Given the description of an element on the screen output the (x, y) to click on. 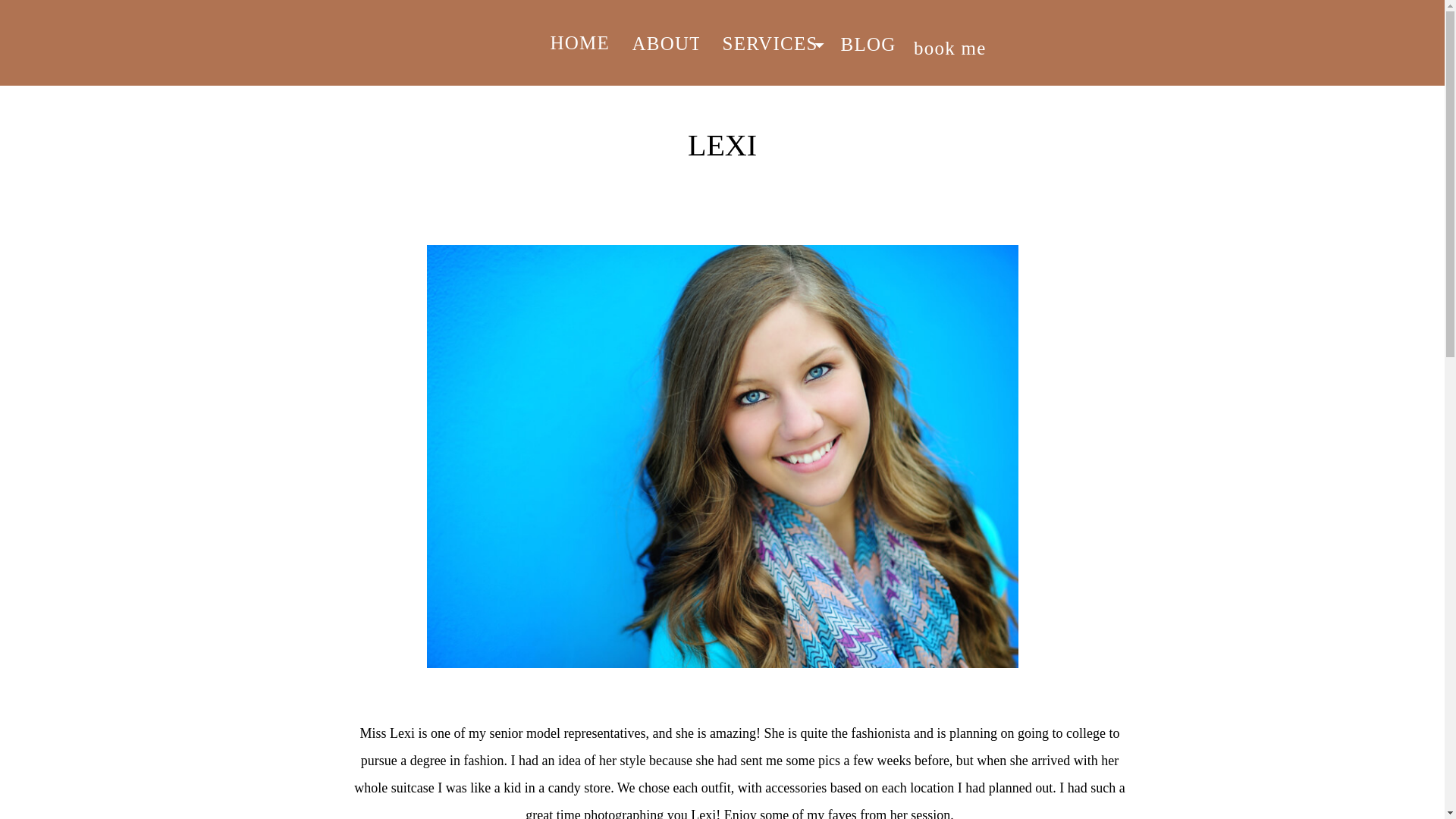
ABOUT (664, 37)
BLOG (876, 38)
SERVICES (770, 37)
HOME (579, 37)
 book me (955, 42)
